Given the description of an element on the screen output the (x, y) to click on. 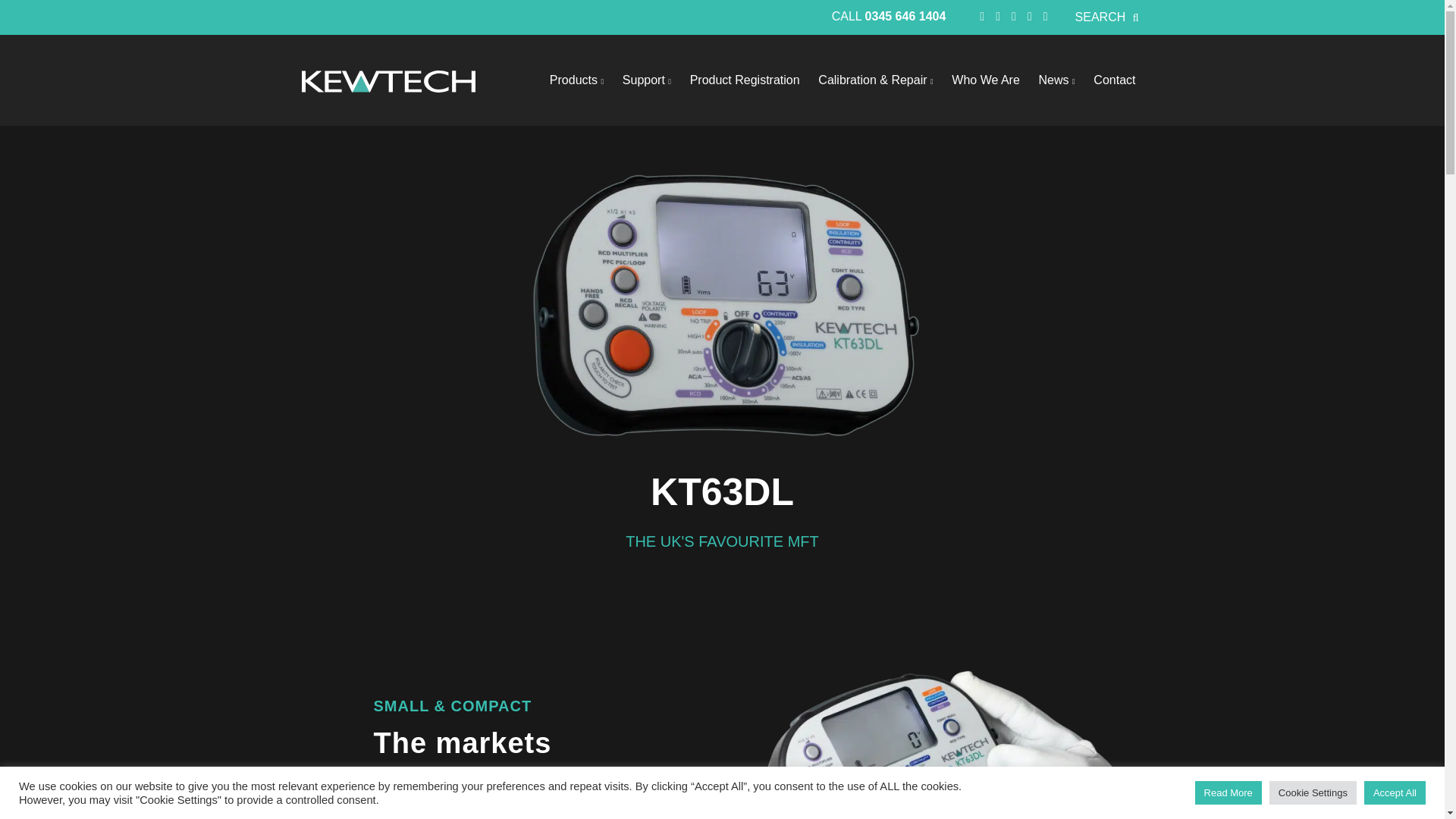
SEARCH (1106, 17)
Products (577, 80)
0345 646 1404 (905, 15)
